Given the description of an element on the screen output the (x, y) to click on. 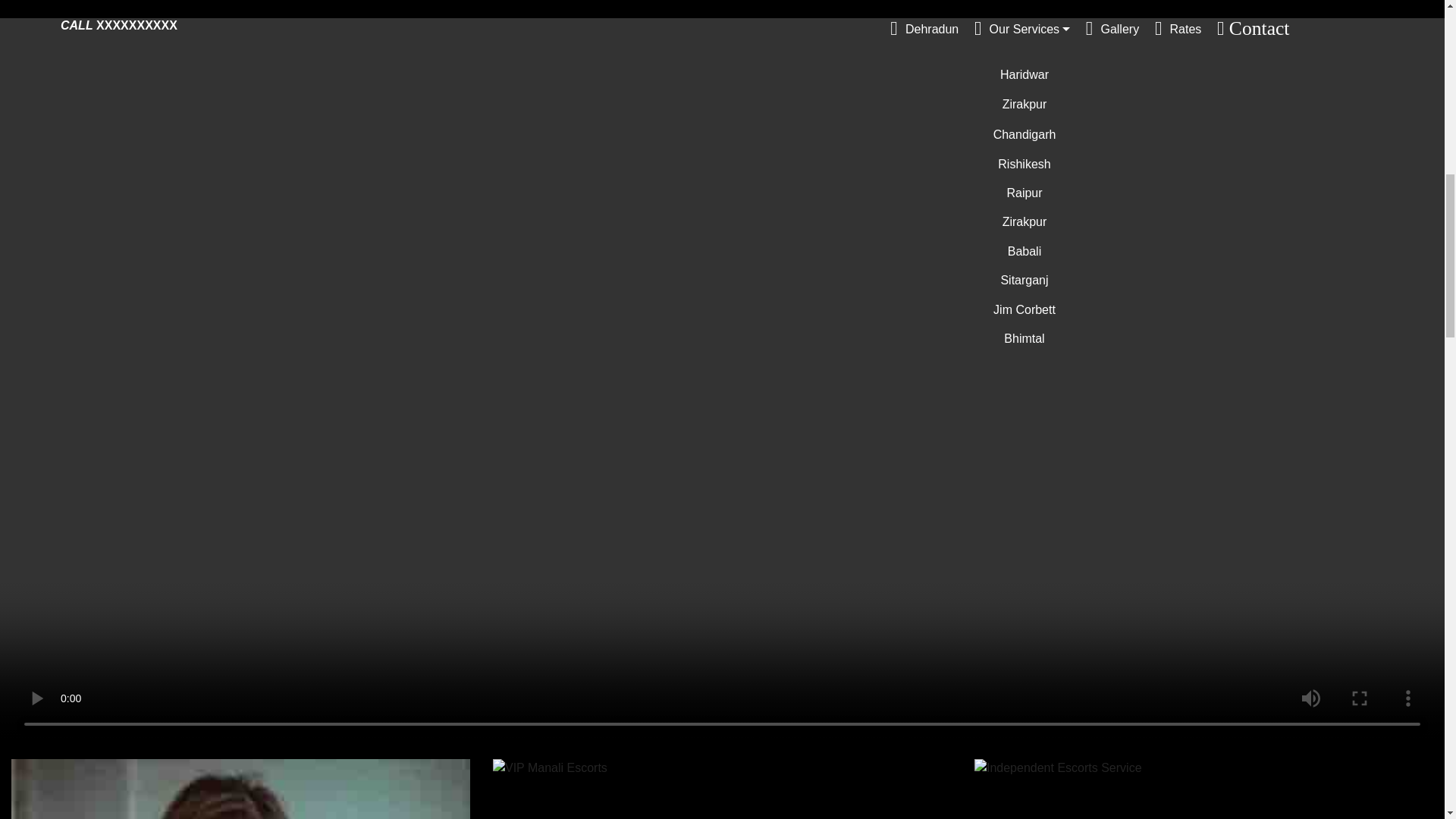
VIP Manali Escorts (550, 768)
Call Girls in Manali (240, 788)
Independent Escorts Service (1057, 768)
